Given the description of an element on the screen output the (x, y) to click on. 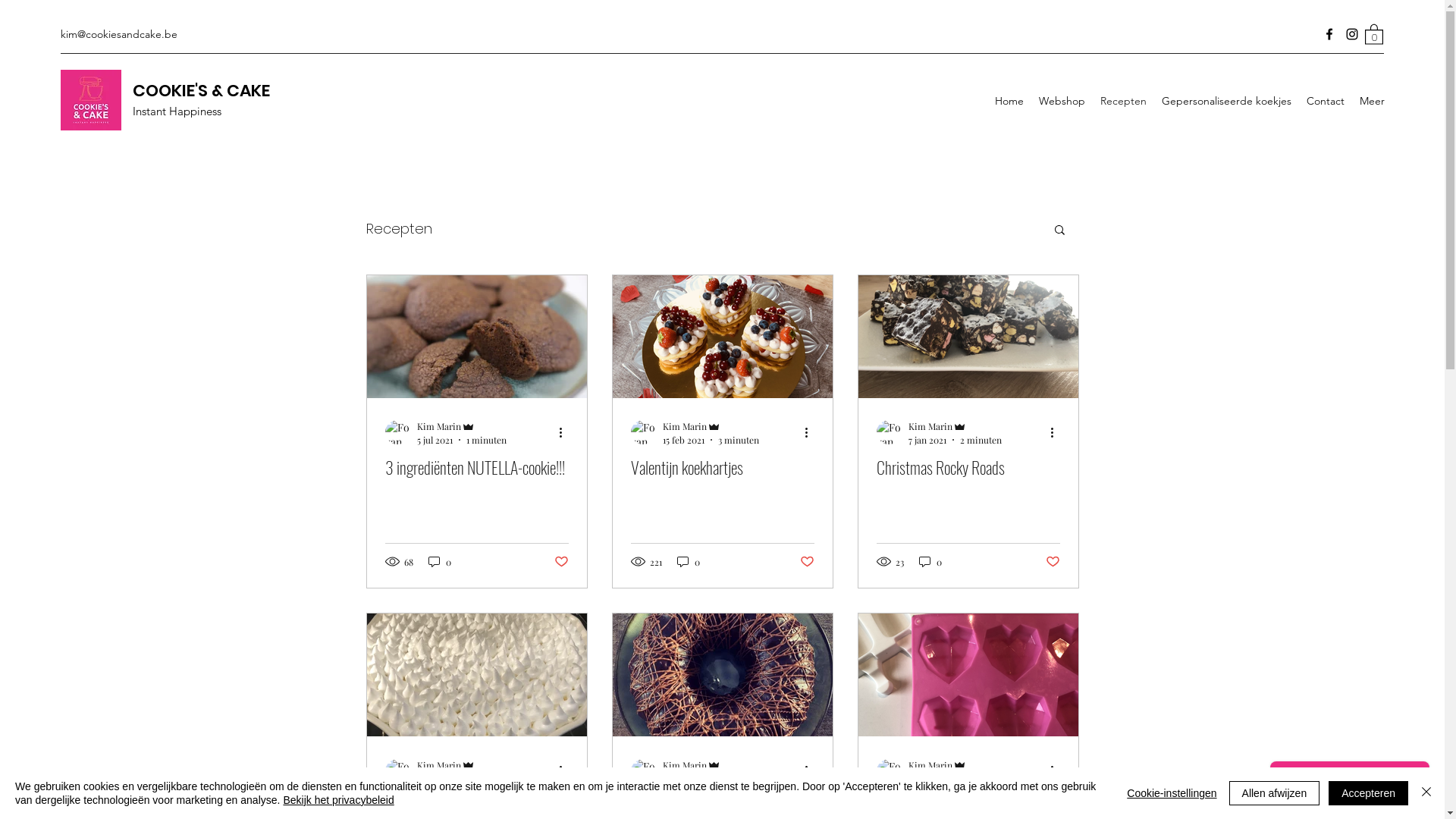
Accepteren Element type: text (1368, 793)
Home Element type: text (1009, 100)
Retro weekendcake! Element type: text (722, 805)
Christmas Rocky Roads Element type: text (968, 467)
Citroen Merengue taart Element type: text (476, 805)
Christmas Popsicle!! Element type: text (968, 805)
Valentijn koekhartjes Element type: text (722, 467)
Bekijk het privacybeleid Element type: text (337, 799)
Gepersonaliseerde koekjes Element type: text (1226, 100)
Recepten Element type: text (1123, 100)
kim@cookiesandcake.be Element type: text (118, 33)
0 Element type: text (930, 561)
0 Element type: text (687, 561)
Allen afwijzen Element type: text (1274, 793)
Recepten Element type: text (398, 228)
COOKIE'S & CAKE Element type: text (200, 90)
Post is niet als leuk gemarkeerd Element type: text (560, 561)
Post is niet als leuk gemarkeerd Element type: text (806, 561)
0 Element type: text (438, 561)
Post is niet als leuk gemarkeerd Element type: text (1051, 561)
0 Element type: text (1374, 33)
Contact Element type: text (1325, 100)
Webshop Element type: text (1061, 100)
